Given the description of an element on the screen output the (x, y) to click on. 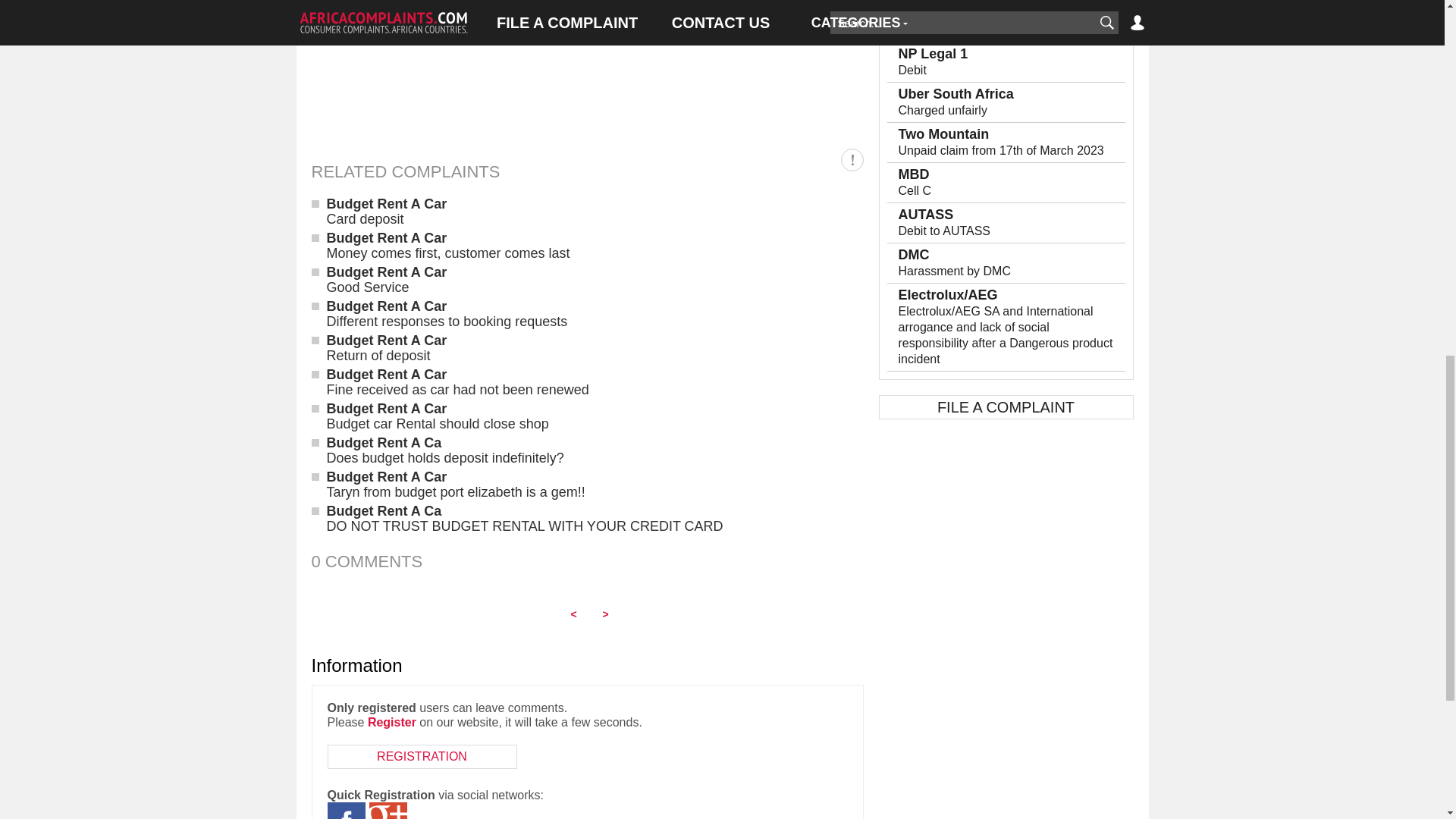
Login with Google (387, 810)
Advertisement (587, 64)
Login with Facebook (346, 810)
